Given the description of an element on the screen output the (x, y) to click on. 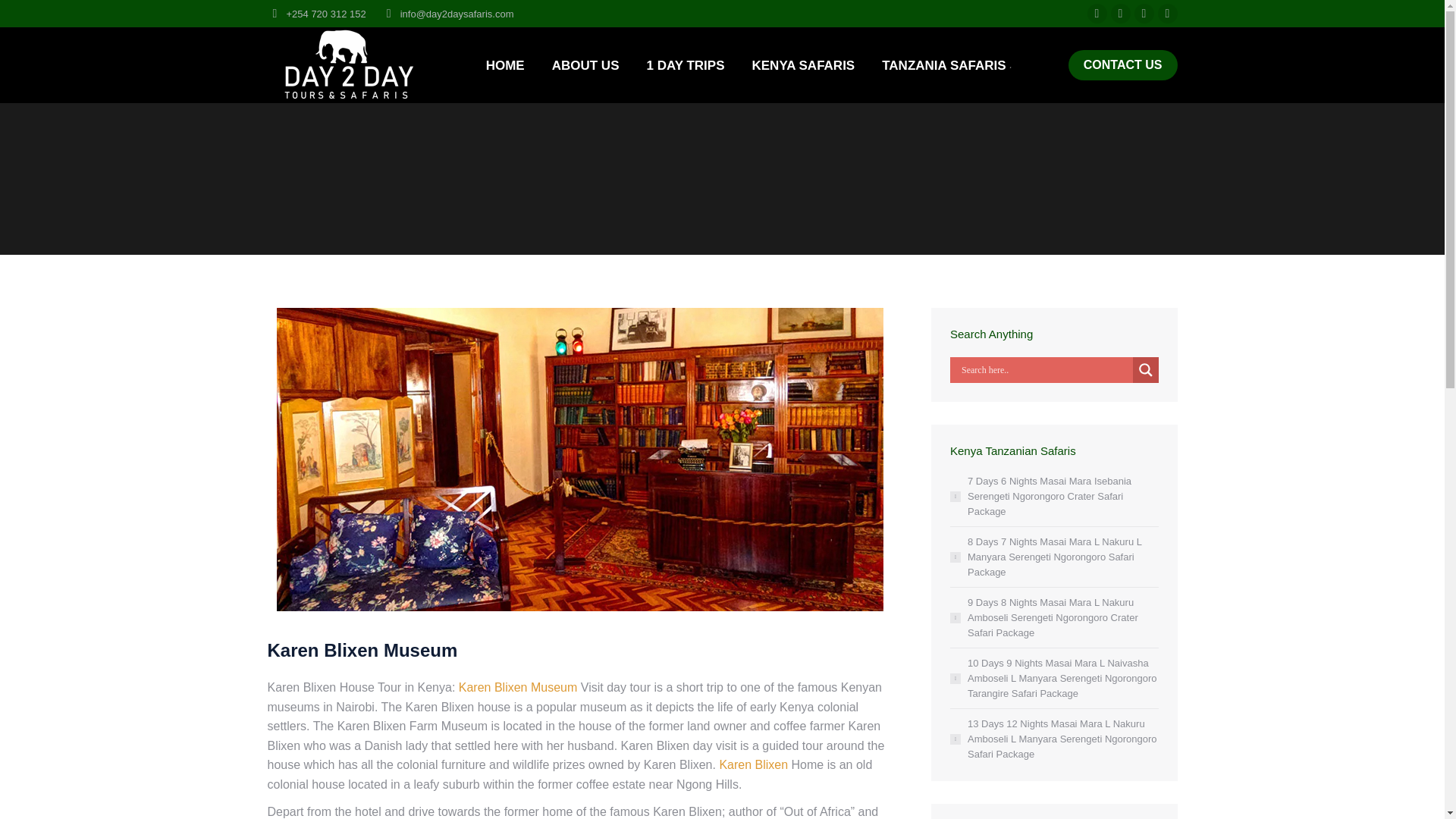
Twitter page opens in new window (1119, 13)
HOME (505, 64)
Instagram page opens in new window (1144, 13)
KENYA SAFARIS (802, 64)
Facebook page opens in new window (1096, 13)
YouTube page opens in new window (1166, 13)
ABOUT US (585, 64)
